Given the description of an element on the screen output the (x, y) to click on. 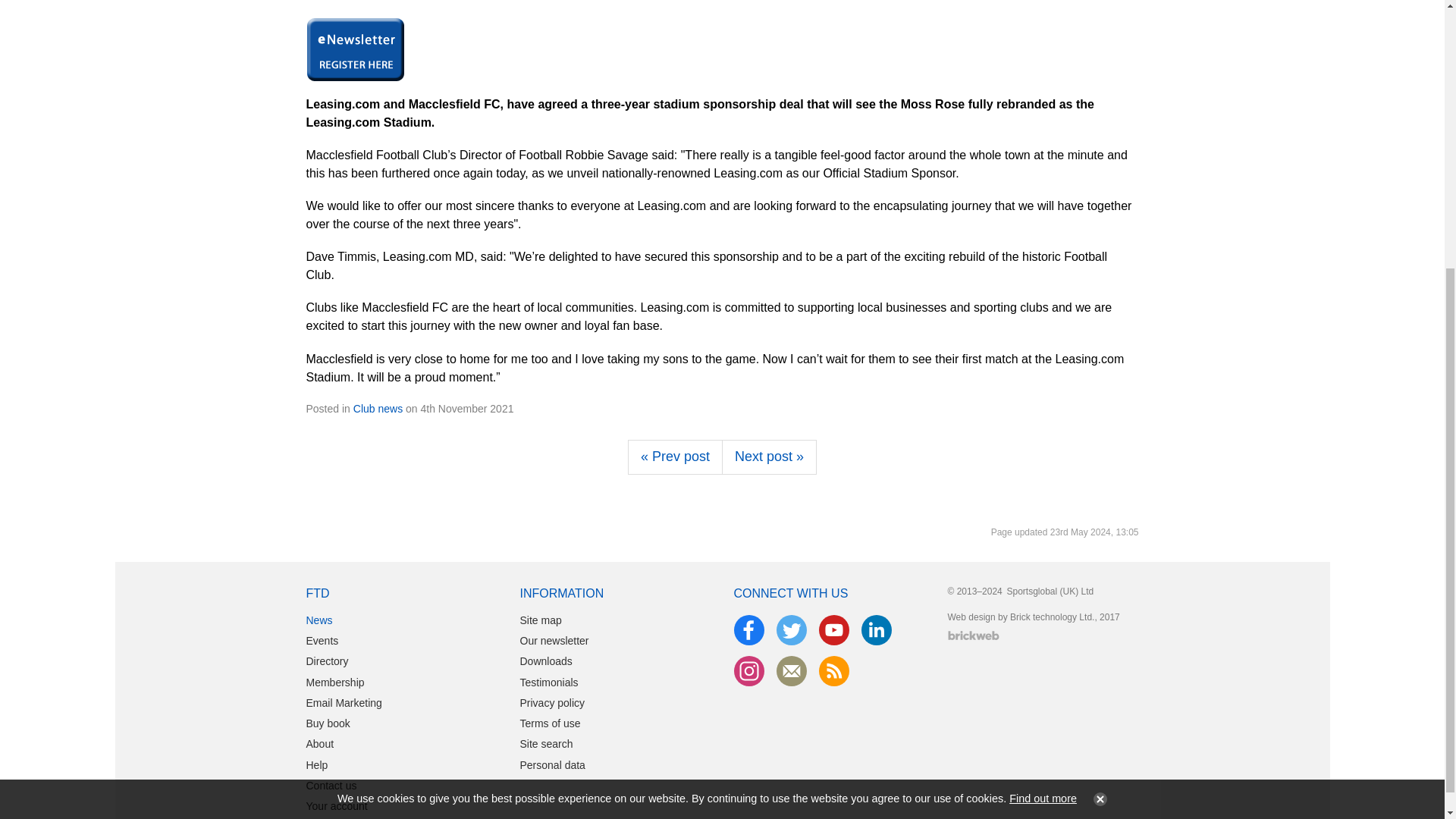
Website designed and maintained by Brick technology Ltd. (972, 634)
RSS (834, 671)
Facebook (749, 630)
Continue (1096, 396)
YouTube (834, 630)
Instagram (749, 671)
Twitter (791, 630)
LinkedIn (877, 630)
Newsletter (791, 671)
